Given the description of an element on the screen output the (x, y) to click on. 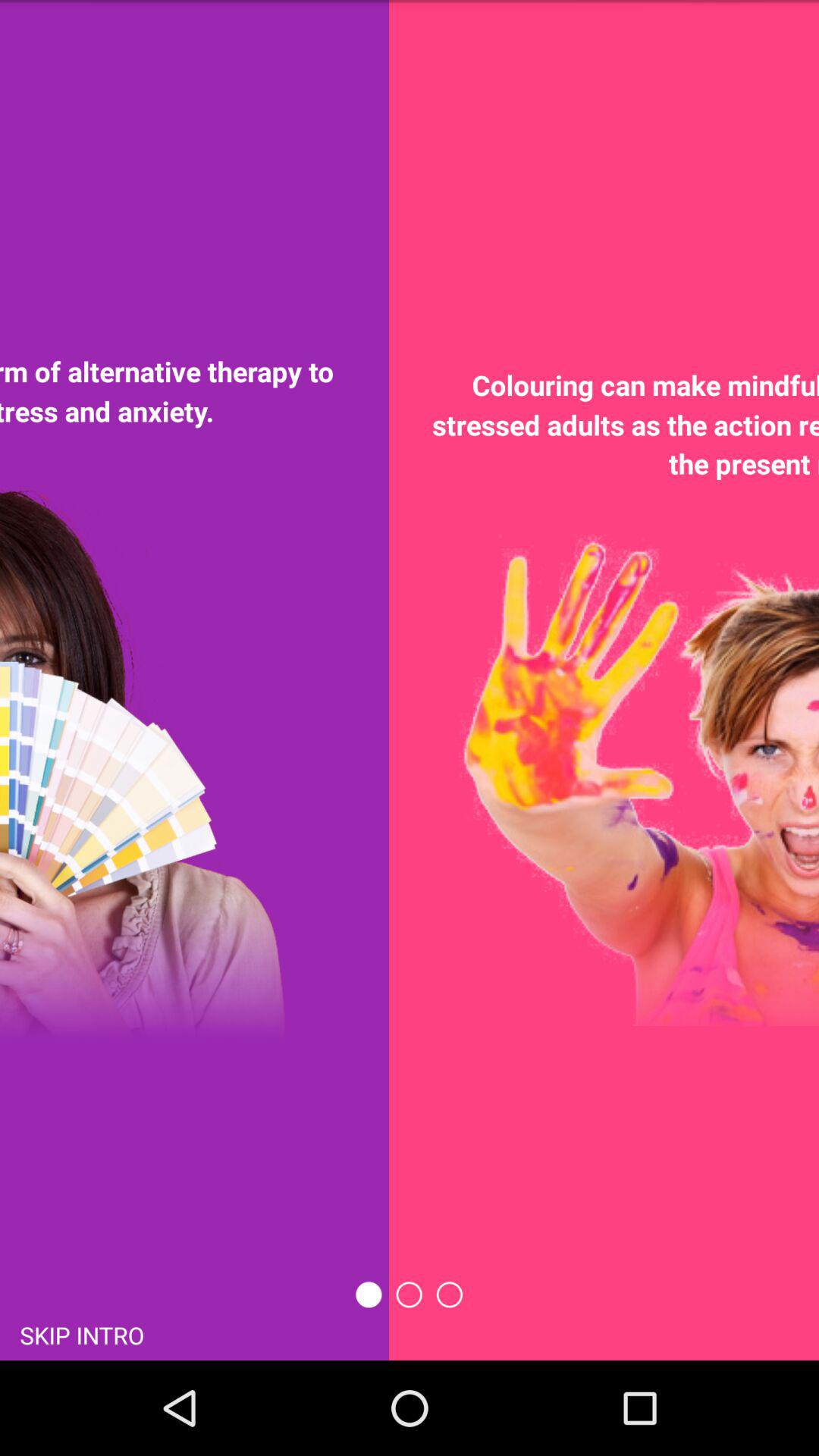
turn off item at the bottom left corner (81, 1334)
